Given the description of an element on the screen output the (x, y) to click on. 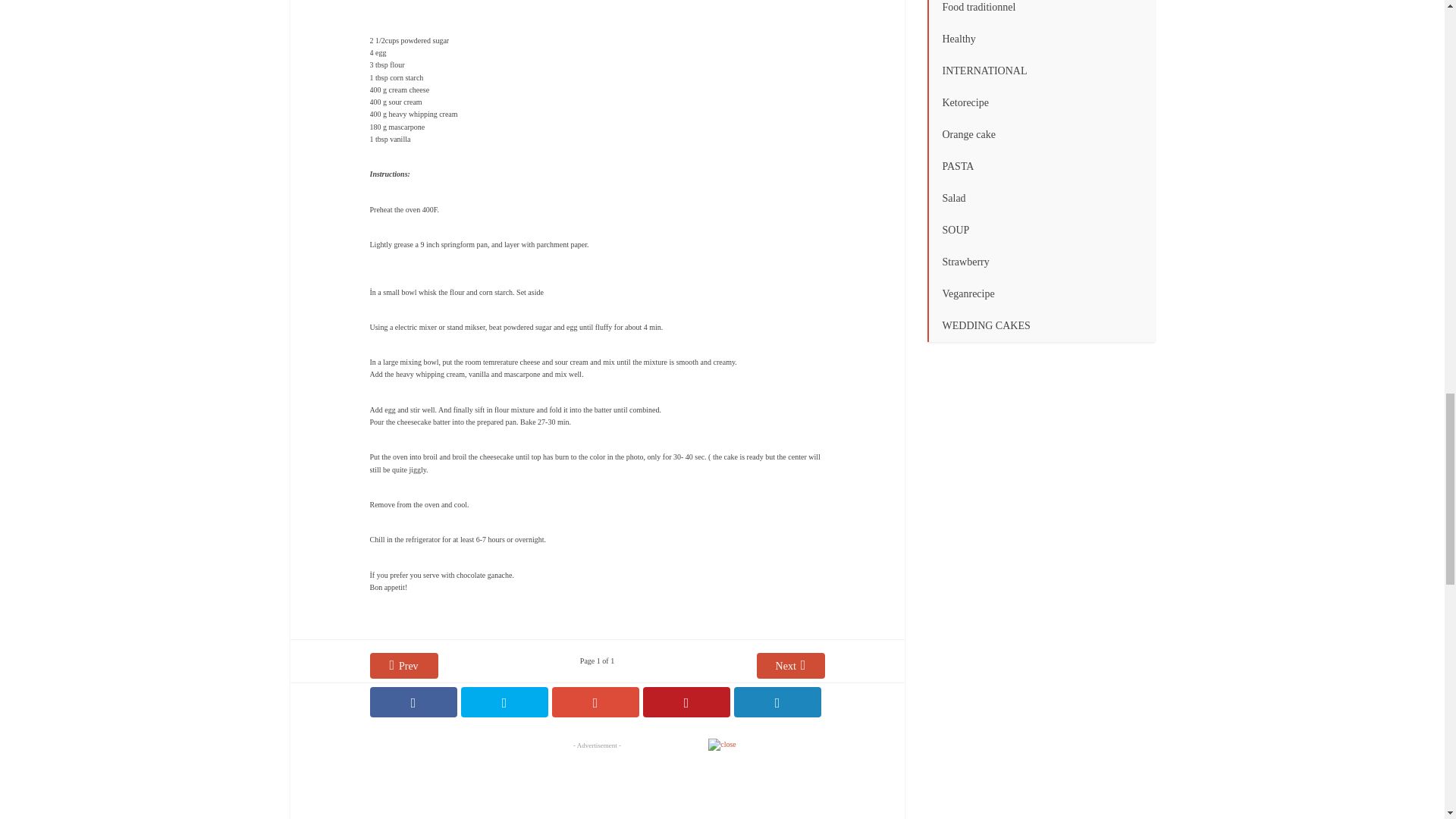
Prev (403, 665)
Next (791, 665)
